Given the description of an element on the screen output the (x, y) to click on. 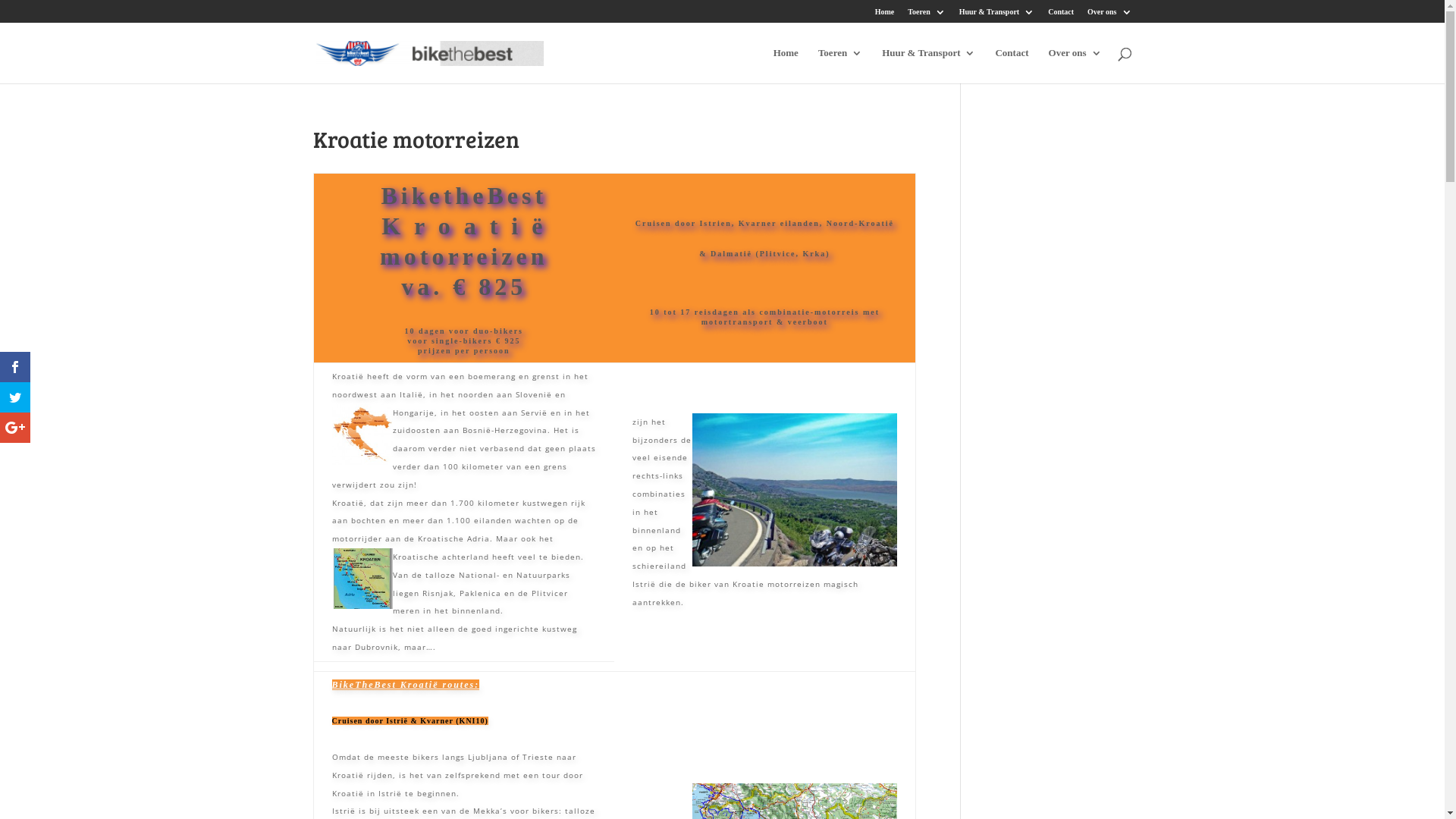
Home Element type: text (884, 14)
Toeren Element type: text (925, 14)
Toeren Element type: text (840, 64)
Contact Element type: text (1060, 14)
Home Element type: text (785, 64)
Kustweg bij Rab Element type: hover (794, 490)
Over ons Element type: text (1109, 14)
Huur & Transport Element type: text (996, 14)
Huur & Transport Element type: text (928, 64)
Contact Element type: text (1011, 64)
Over ons Element type: text (1074, 64)
